Given the description of an element on the screen output the (x, y) to click on. 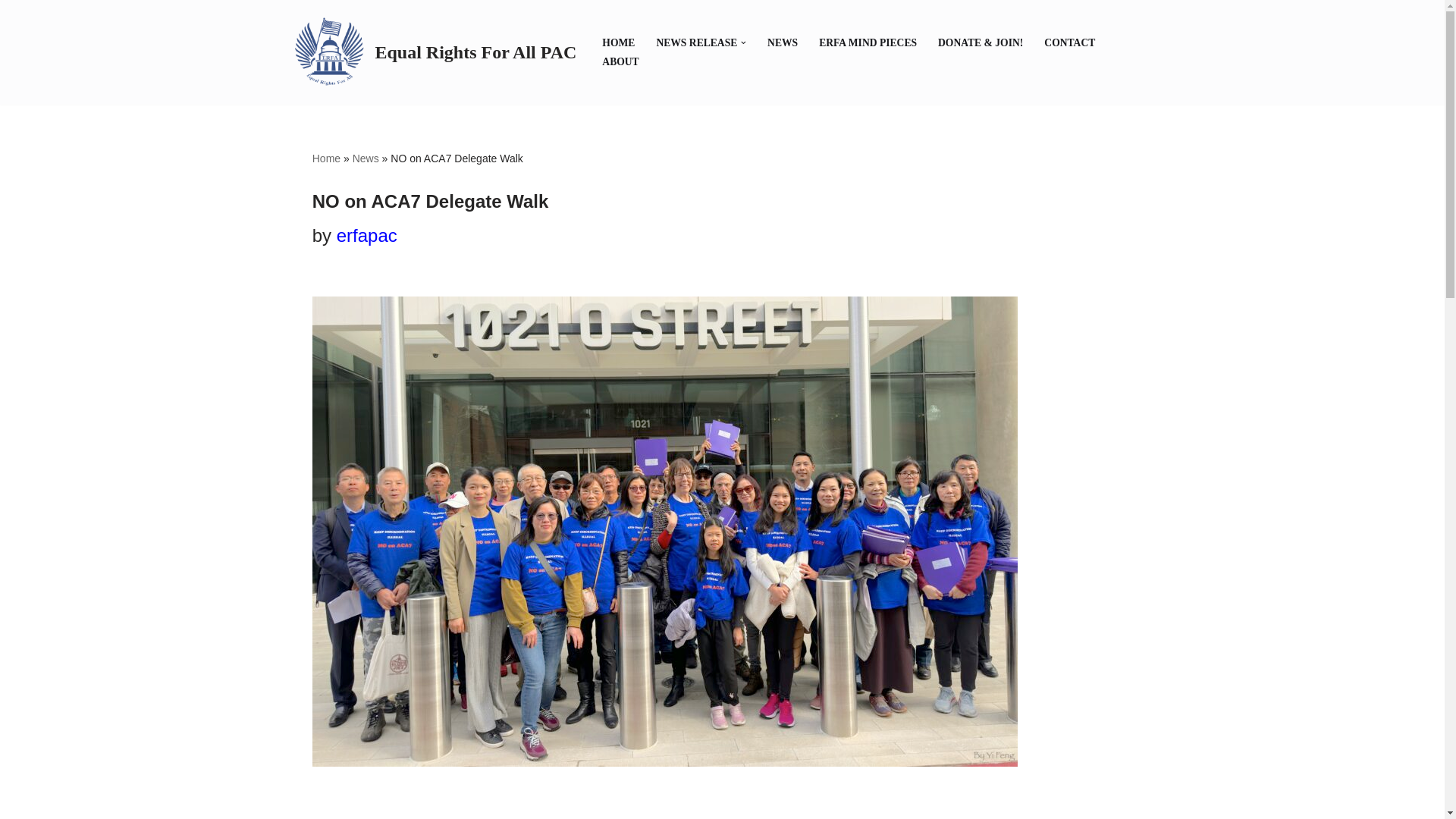
Skip to content (11, 31)
ERFA MIND PIECES (867, 42)
erfapac (366, 235)
ABOUT (620, 61)
Posts by erfapac (366, 235)
CONTACT (1068, 42)
HOME (618, 42)
NEWS RELEASE (696, 42)
Home (326, 158)
Equal Rights For All PAC (432, 51)
News (365, 158)
NEWS (782, 42)
